Given the description of an element on the screen output the (x, y) to click on. 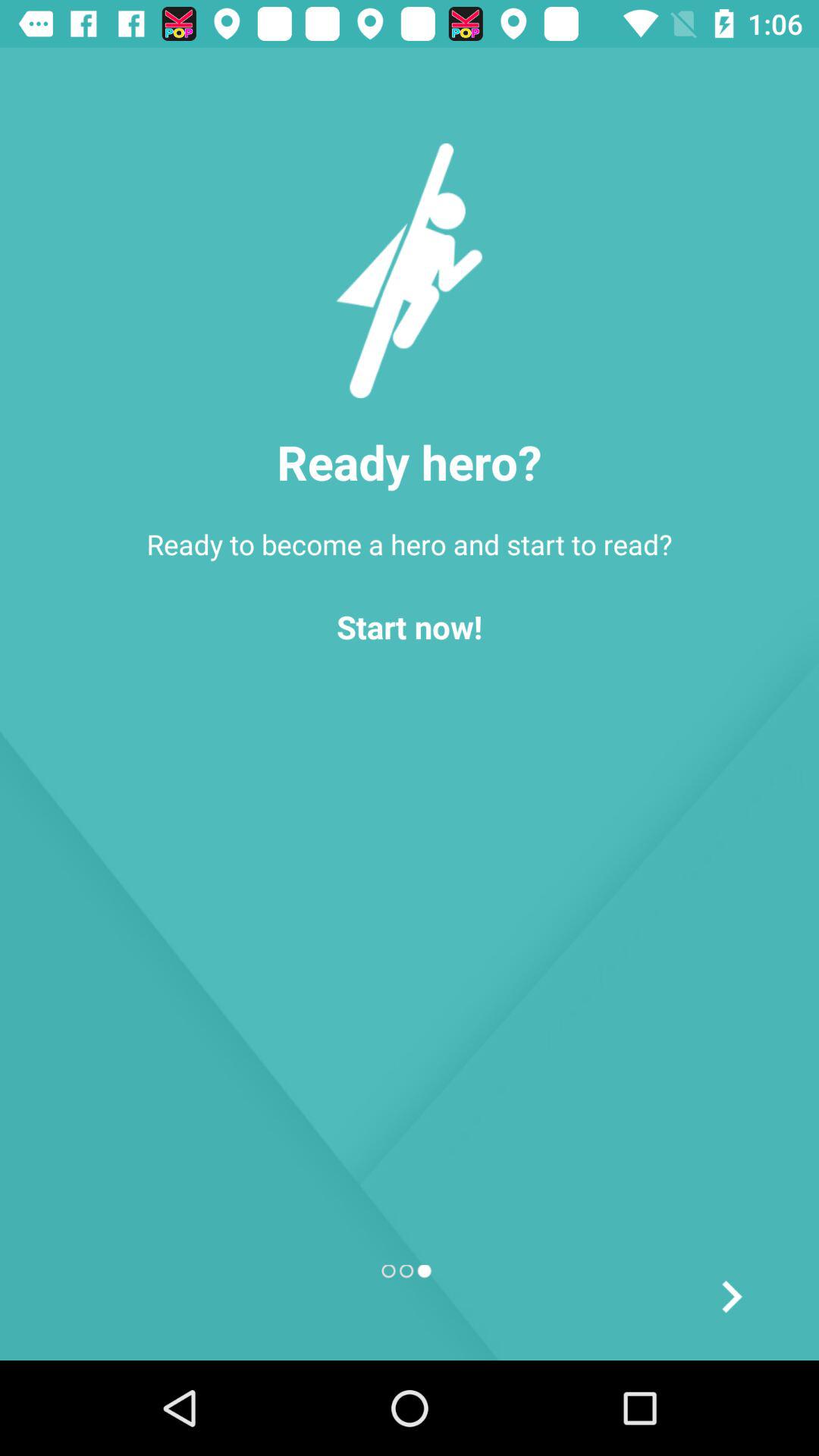
go to the next page (731, 1296)
